Given the description of an element on the screen output the (x, y) to click on. 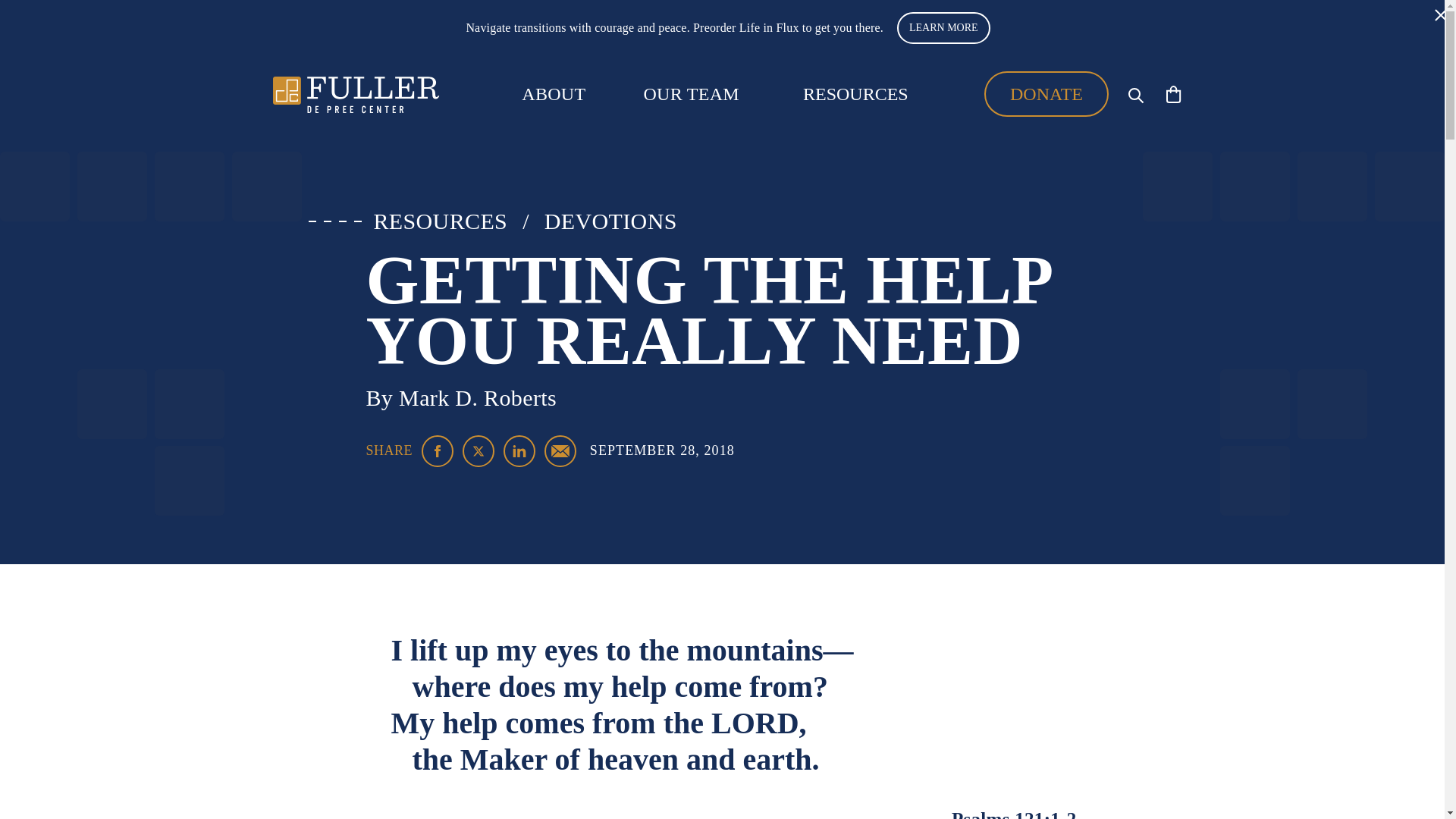
DONATE (1046, 94)
Psalms 121:1-2 (1014, 814)
LEARN MORE (943, 28)
RESOURCES (855, 93)
OUR TEAM (691, 94)
Return to Homepage (356, 94)
RESOURCES (439, 221)
Mark D. Roberts (477, 397)
DEVOTIONS (610, 221)
De Pree Center (356, 94)
ABOUT (552, 94)
